Given the description of an element on the screen output the (x, y) to click on. 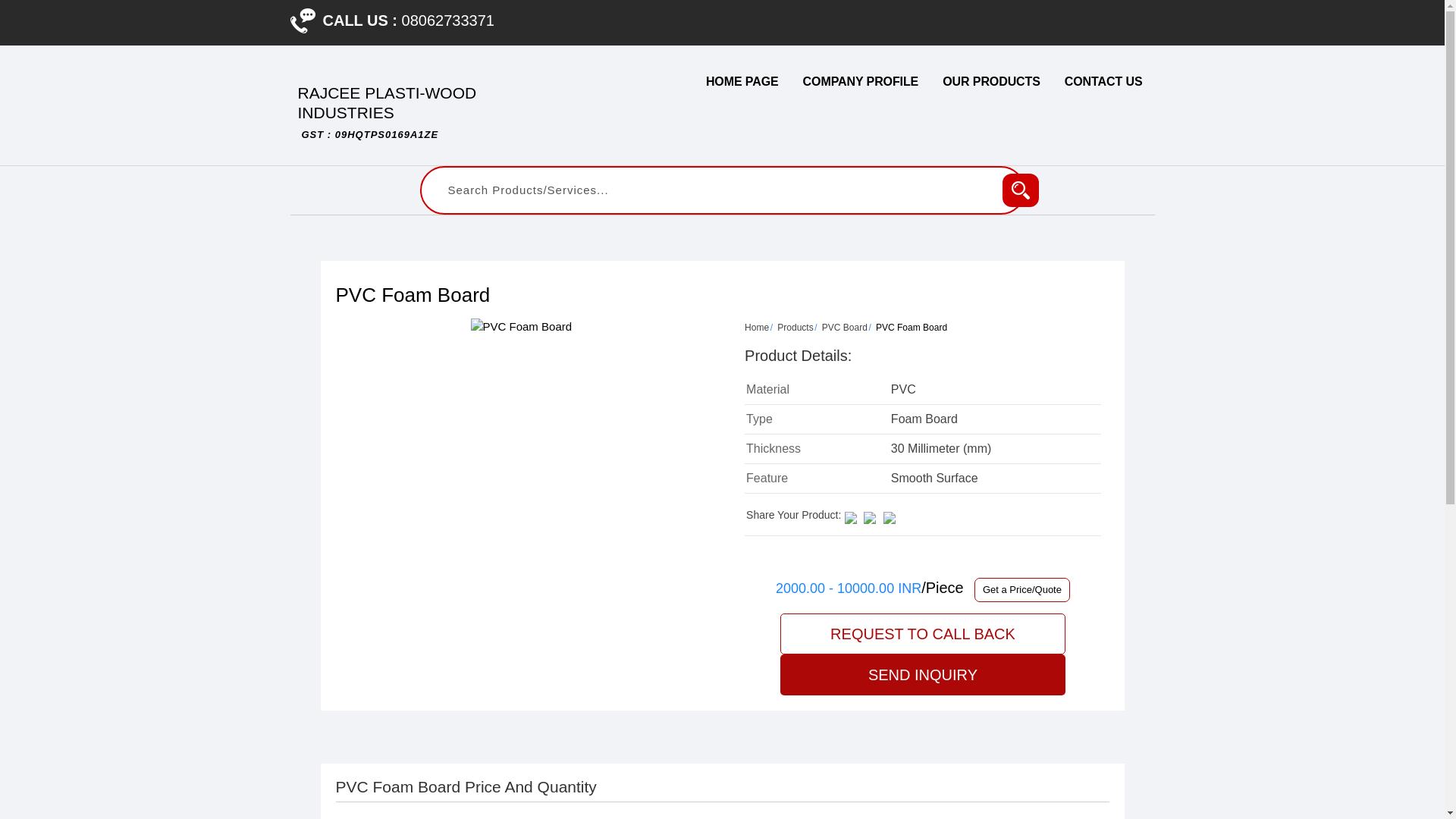
submit (1021, 190)
Call Us (301, 20)
OUR PRODUCTS (991, 81)
COMPANY PROFILE (860, 81)
HOME PAGE (742, 81)
Search (1021, 190)
